Given the description of an element on the screen output the (x, y) to click on. 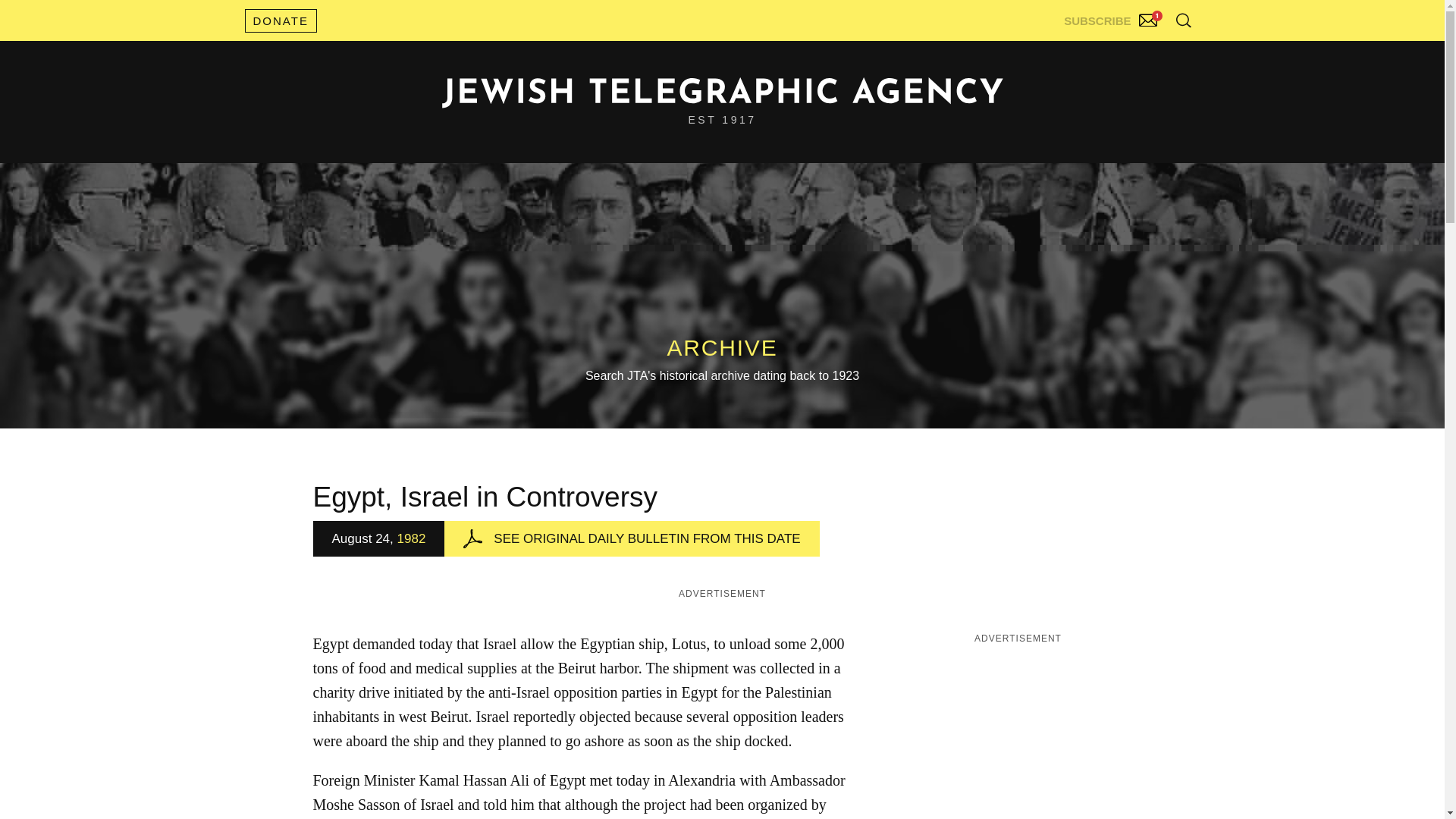
Search (1144, 53)
SEARCH TOGGLESEARCH TOGGLE (1182, 20)
SUBSCRIBE (1112, 17)
DONATE (279, 20)
